Given the description of an element on the screen output the (x, y) to click on. 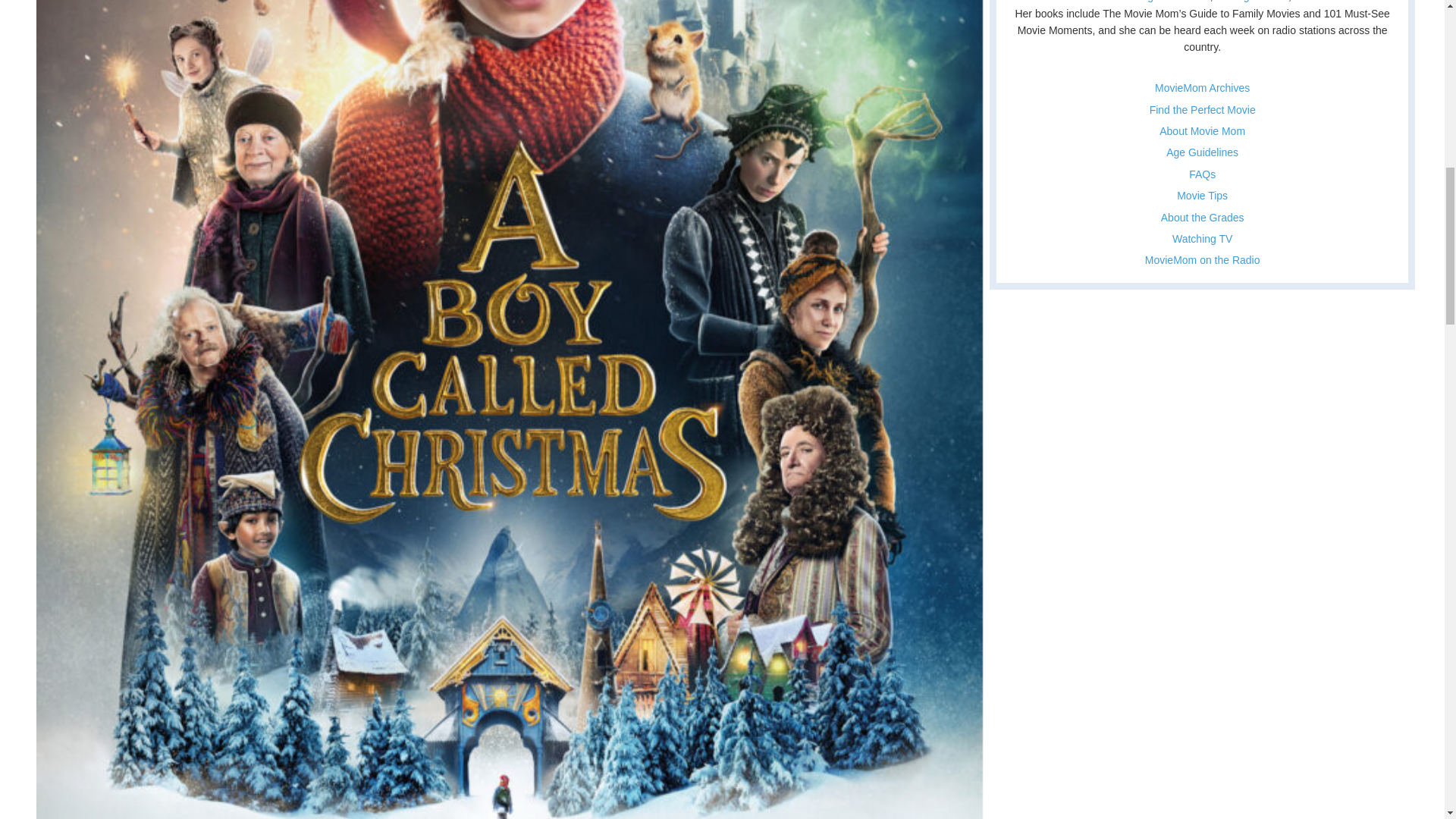
Age Guidelines (1202, 152)
About Movie Mom (1201, 131)
About the Grades (1202, 217)
MovieMom Archives (1201, 87)
Huffington Post (1251, 1)
Watching TV (1201, 238)
Find the Perfect Movie (1202, 110)
WheretoWatch (1349, 1)
FAQs (1202, 174)
Movie Tips (1201, 195)
MovieMom on the Radio (1202, 259)
Rogerebert.com (1171, 1)
